Given the description of an element on the screen output the (x, y) to click on. 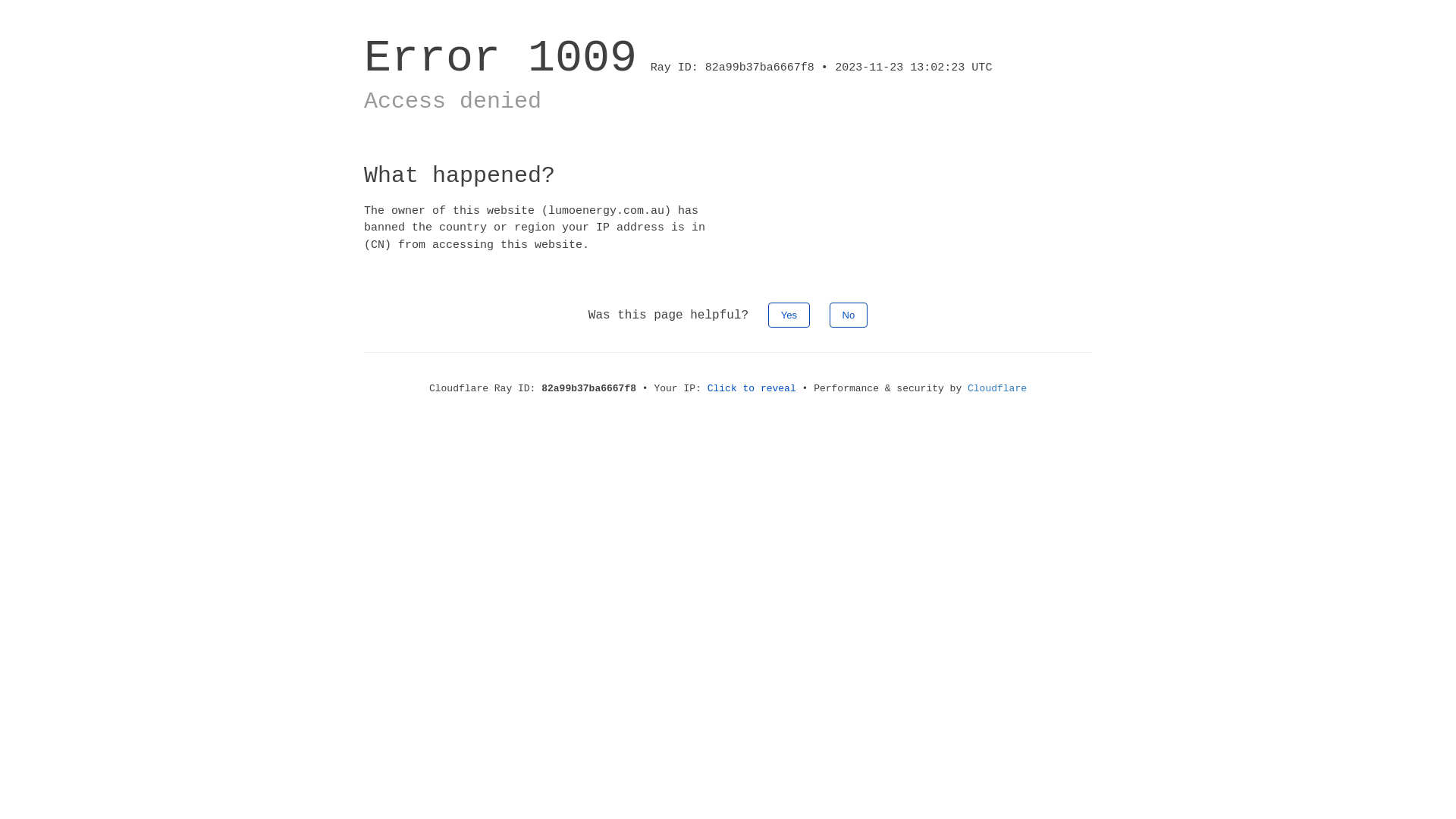
Click to reveal Element type: text (751, 388)
No Element type: text (848, 314)
Cloudflare Element type: text (996, 388)
Yes Element type: text (788, 314)
